Given the description of an element on the screen output the (x, y) to click on. 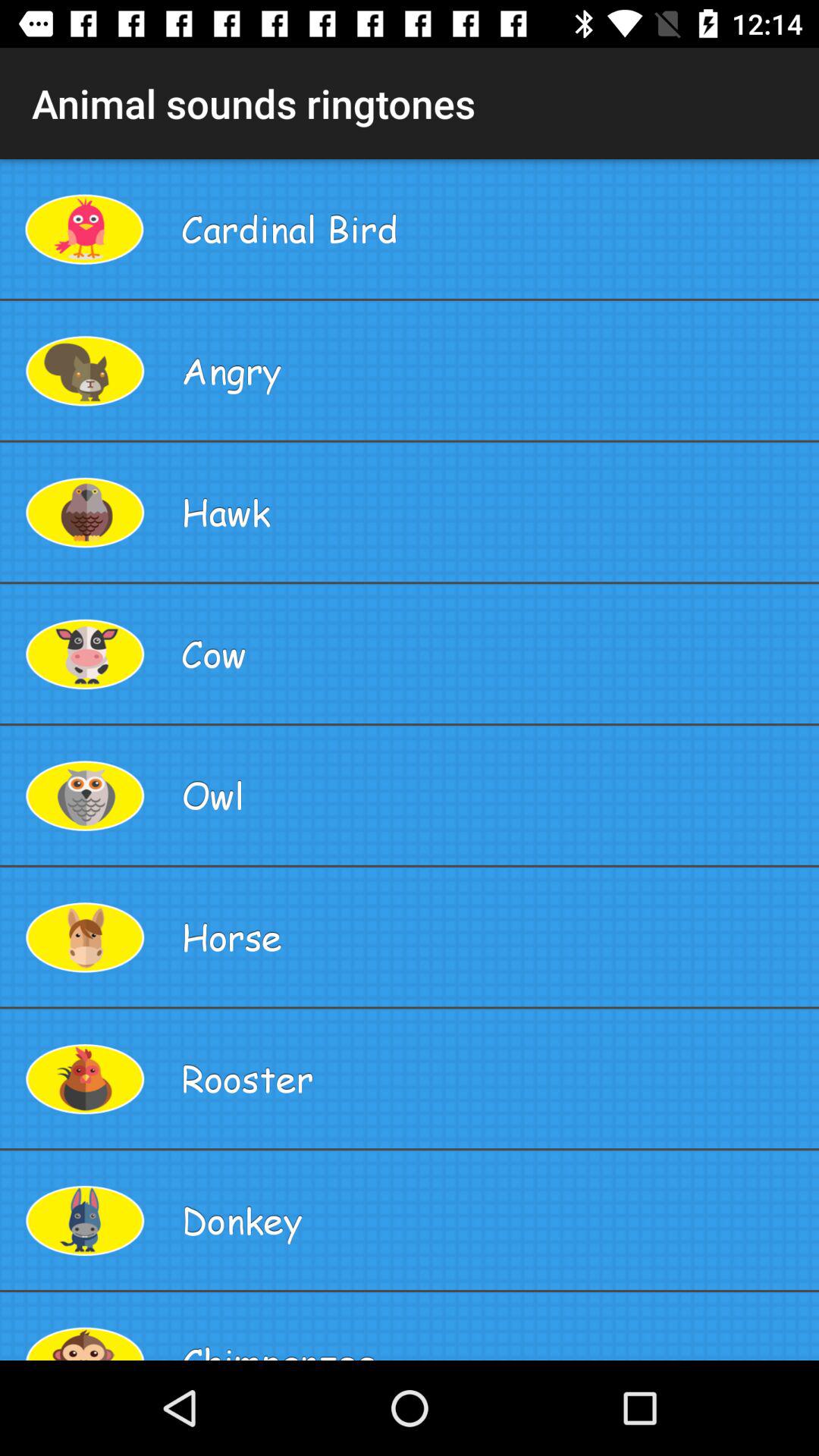
choose the hawk app (494, 511)
